Given the description of an element on the screen output the (x, y) to click on. 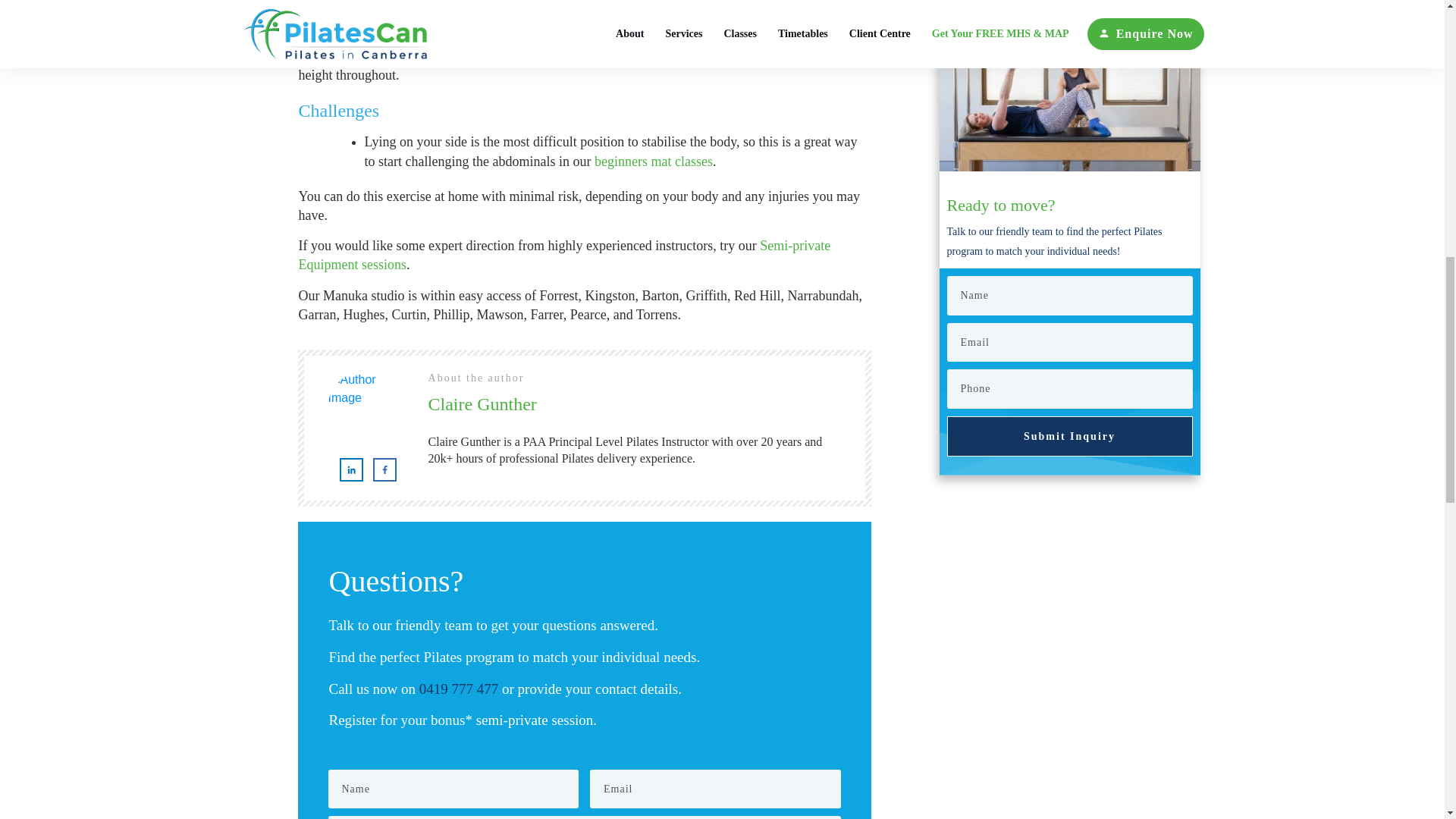
Claire Gunther (482, 403)
PilatesCan-284 (1069, 106)
undefined (365, 408)
